Given the description of an element on the screen output the (x, y) to click on. 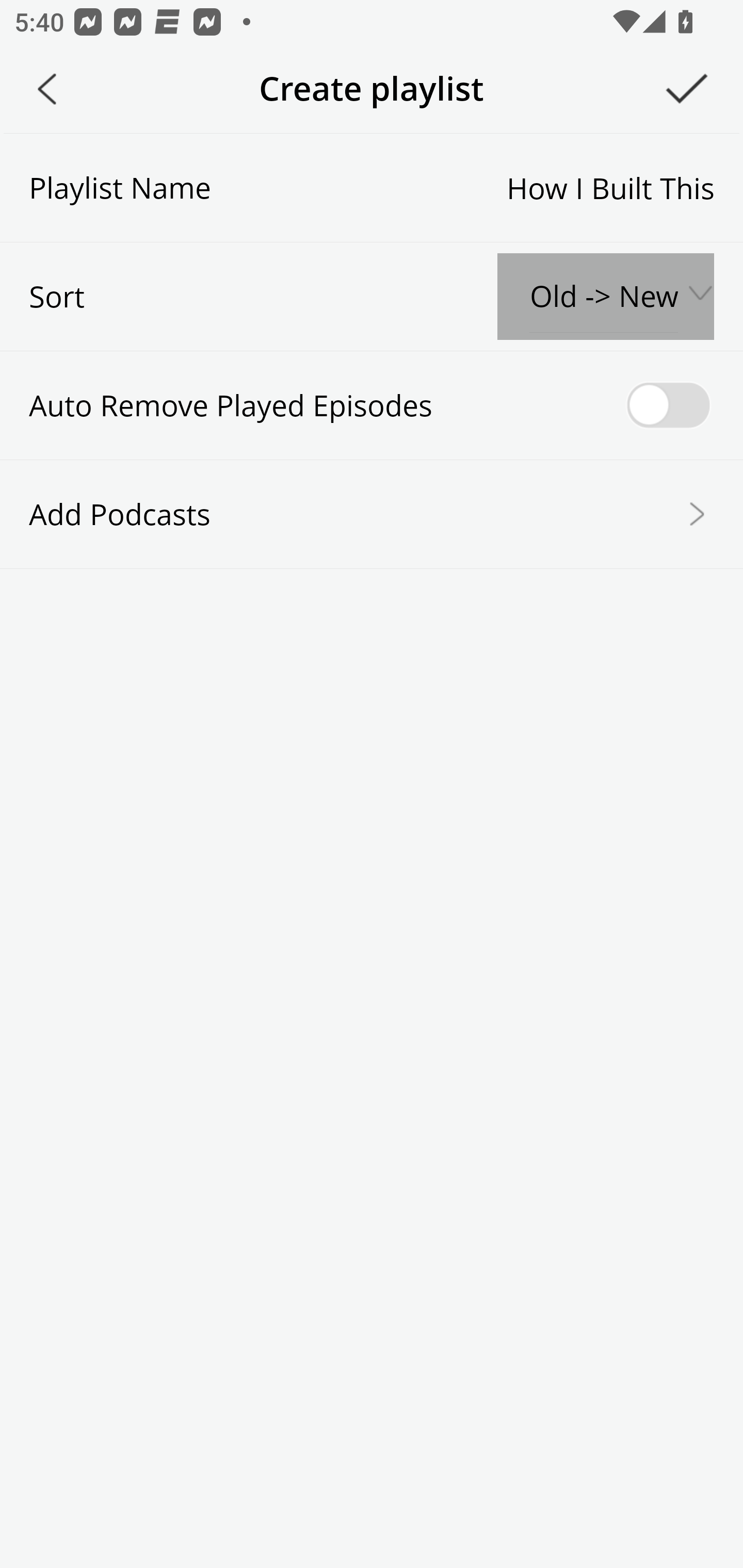
Back (46, 88)
How I Built This (462, 187)
Old -> New (605, 297)
Add Podcasts (371, 513)
